Given the description of an element on the screen output the (x, y) to click on. 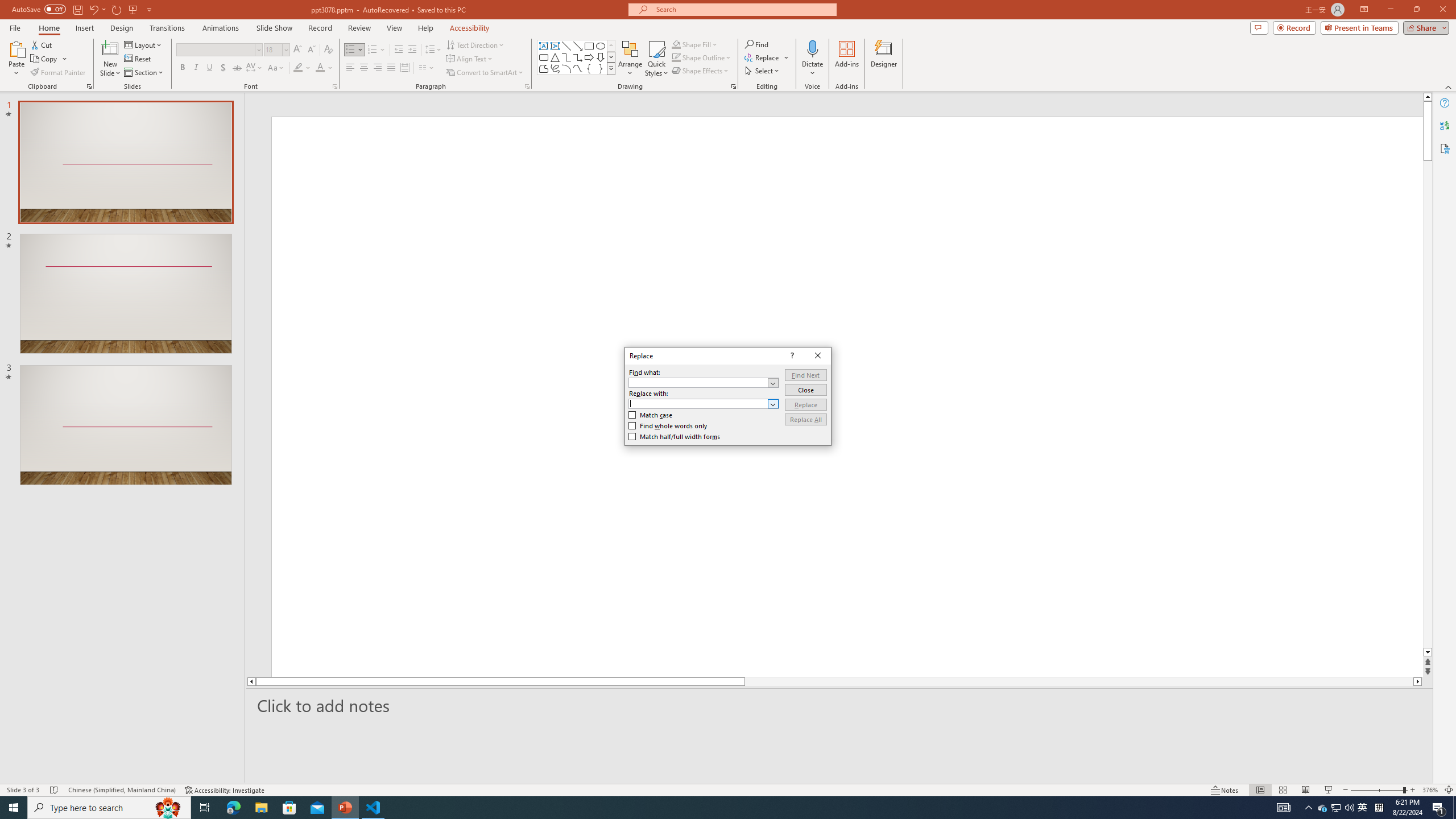
Font Size (1362, 807)
Underline (273, 49)
Zoom 376% (209, 67)
Select (1430, 790)
Connector: Elbow (762, 69)
Connector: Elbow Arrow (1335, 807)
Vertical Text Box (566, 57)
Start (577, 57)
Right Brace (554, 45)
